Given the description of an element on the screen output the (x, y) to click on. 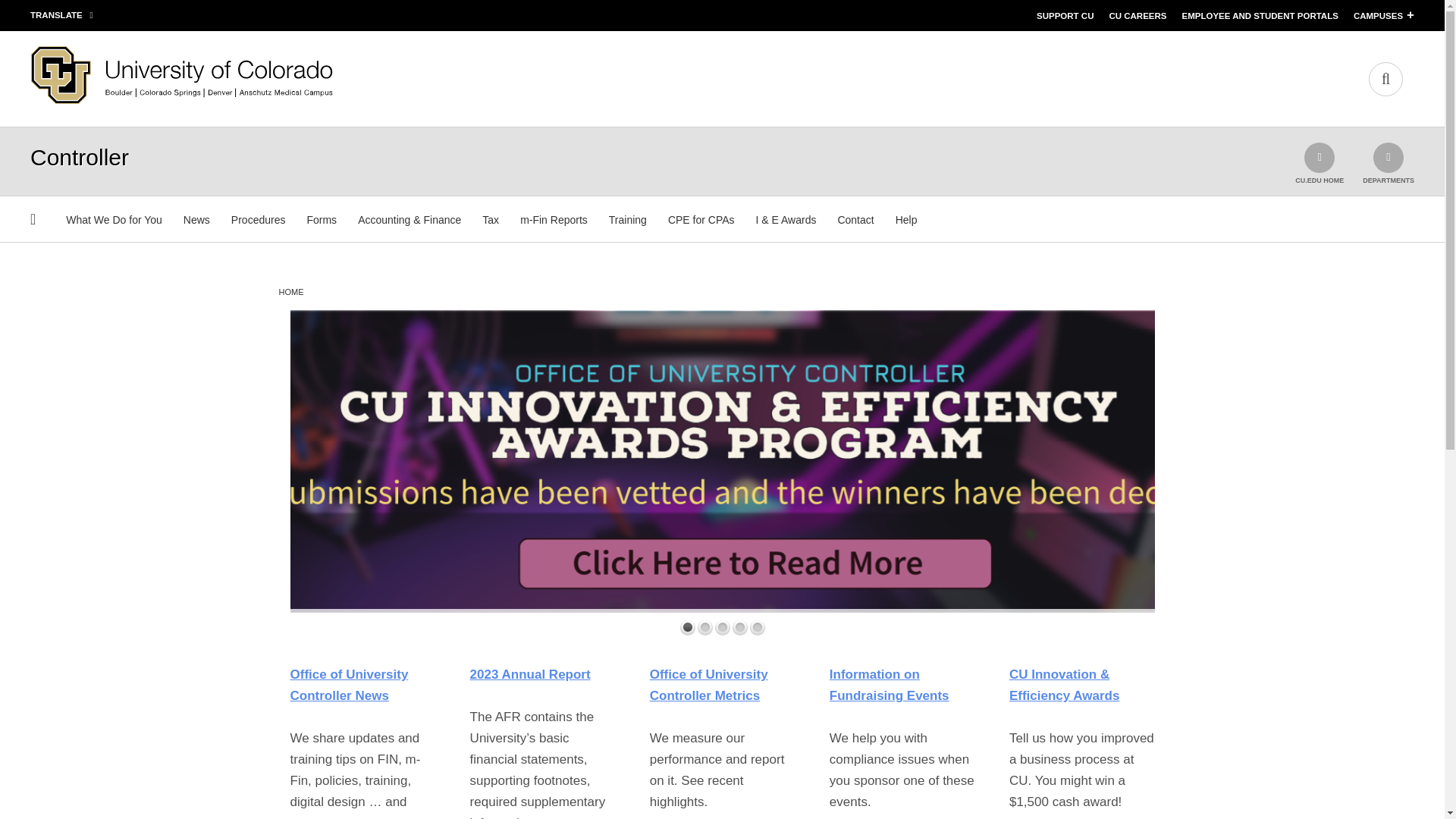
Procedures (258, 219)
EMPLOYEE AND STUDENT PORTALS (1259, 15)
Forms (321, 219)
News (196, 219)
CU CAREERS (1137, 15)
SUPPORT CU (1064, 15)
DEPARTMENTS (1387, 163)
CAMPUSES (1378, 15)
What We Do for You (113, 219)
CU.EDU HOME (1319, 163)
Home (181, 100)
